Given the description of an element on the screen output the (x, y) to click on. 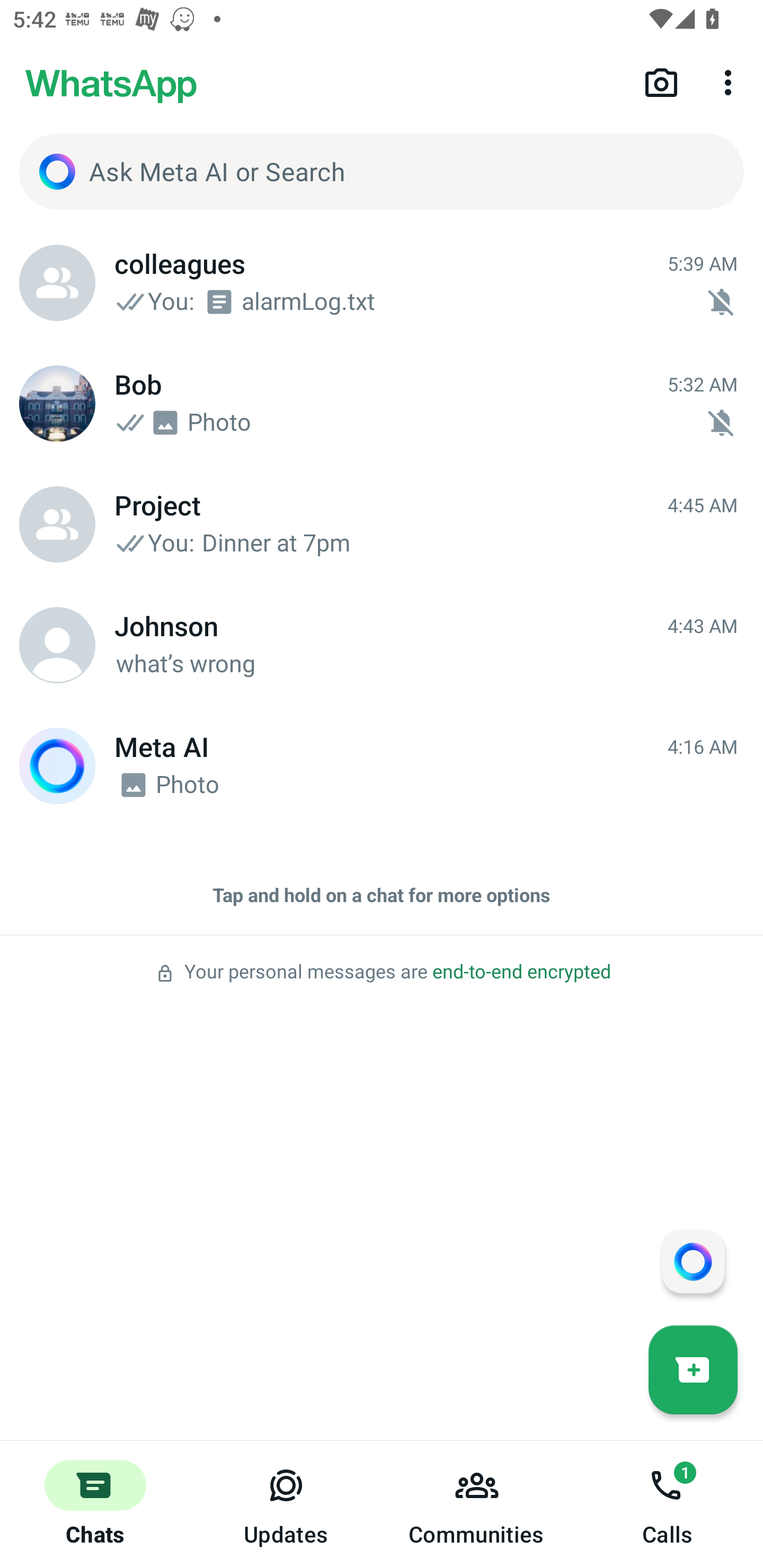
Camera (661, 81)
More options (731, 81)
colleagues (57, 282)
Bob Bob 5:32 AM 5:32 AM Photo Mute notifications (381, 403)
Bob (57, 403)
Project (57, 524)
Johnson Johnson 4:43 AM 4:43 AM what’s wrong (381, 644)
Johnson (57, 644)
Meta AI Meta AI 4:16 AM 4:16 AM Photo (381, 765)
Meta AI (57, 765)
end-to-end encrypted (521, 972)
Message your assistant (692, 1261)
New chat (692, 1369)
Updates (285, 1504)
Communities (476, 1504)
Calls, 1 new notification Calls (667, 1504)
